Given the description of an element on the screen output the (x, y) to click on. 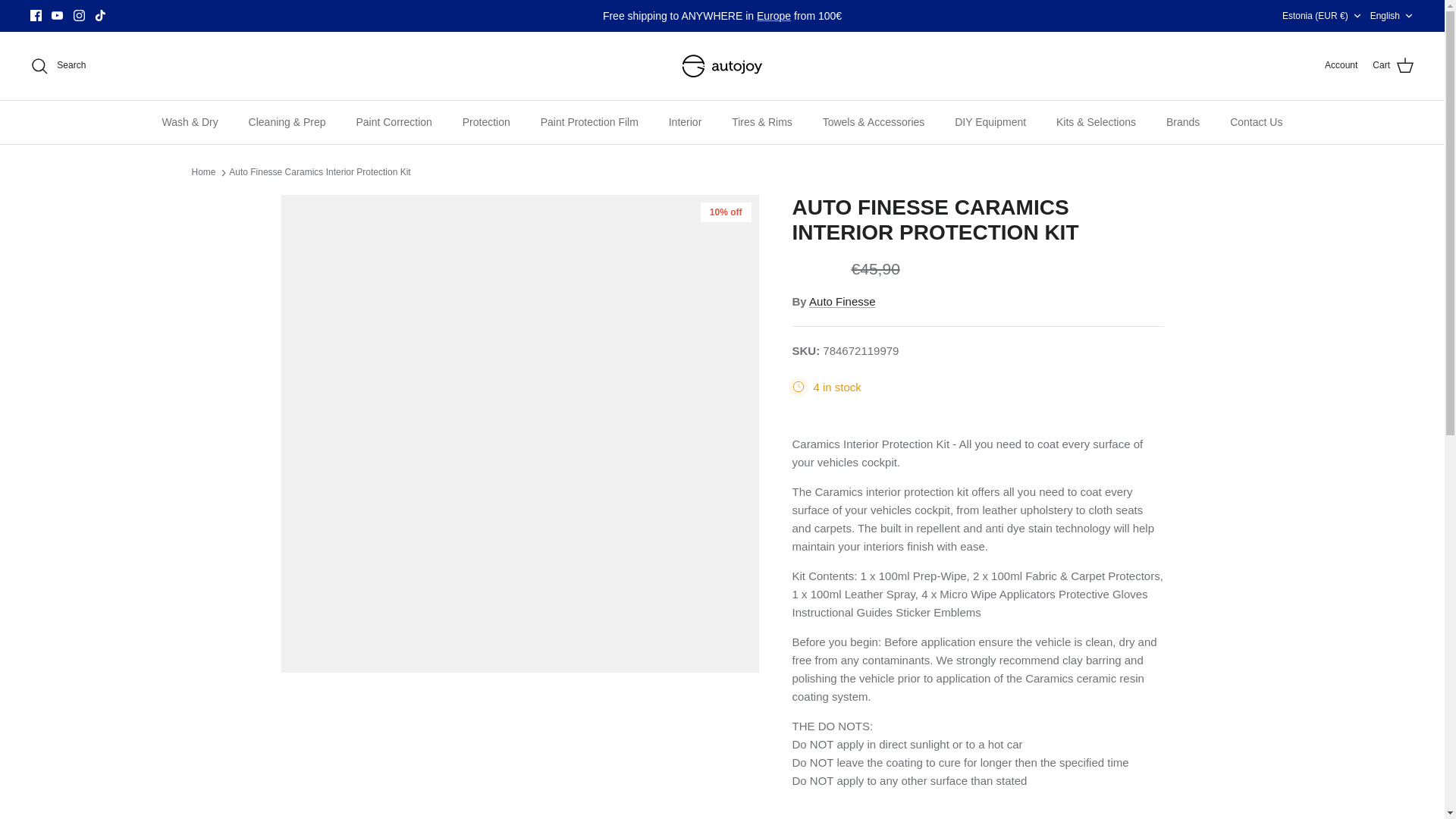
Facebook (36, 15)
Instagram (1391, 16)
Cart (79, 15)
Down (1393, 66)
Europe (1357, 15)
Instagram (773, 15)
Autojoy Baltic (79, 15)
Facebook (722, 65)
Account (36, 15)
